Given the description of an element on the screen output the (x, y) to click on. 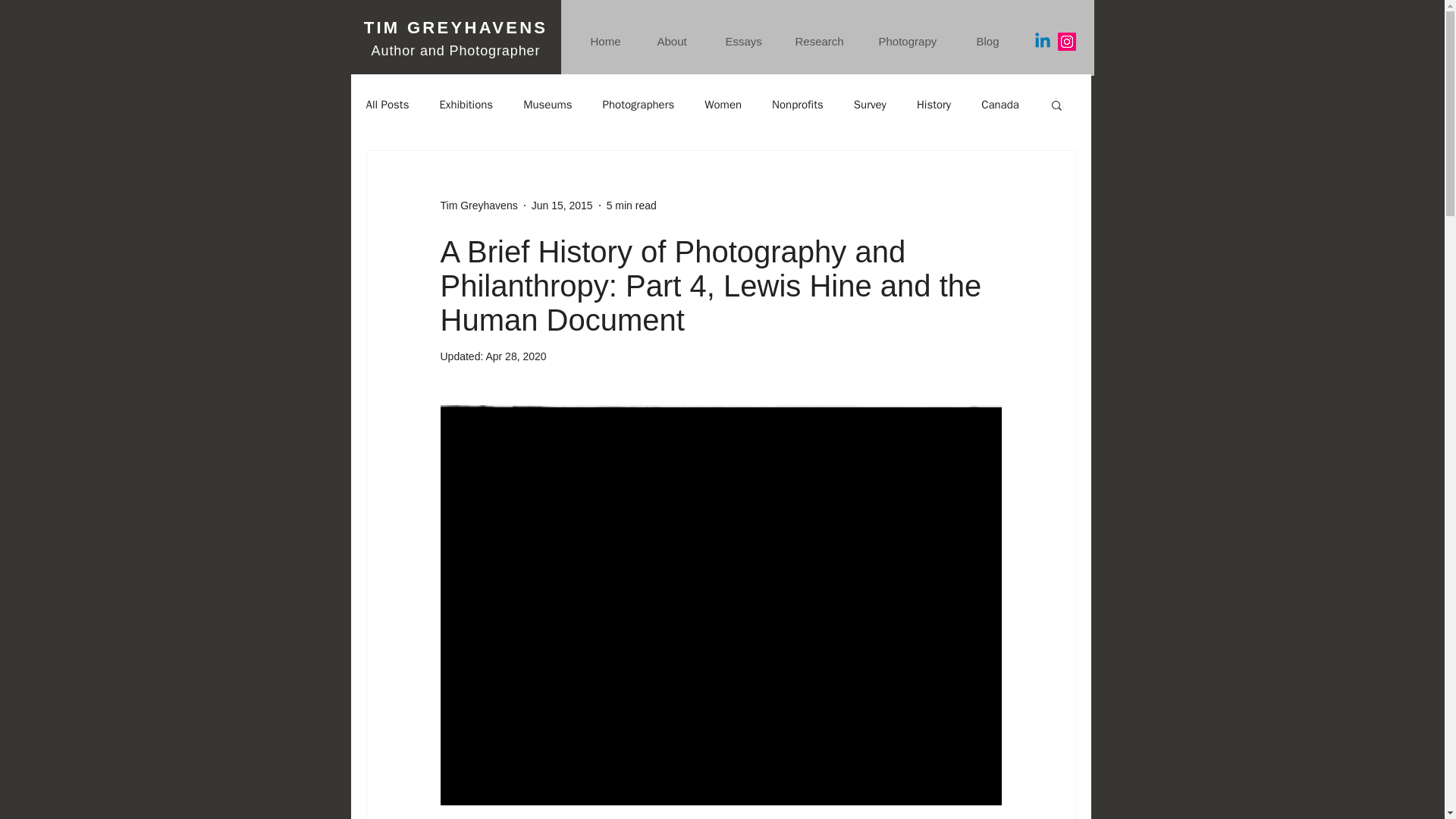
Jun 15, 2015 (561, 204)
About (680, 41)
Author and Photographer (455, 50)
Blog (993, 41)
Exhibitions (466, 104)
Nonprofits (797, 104)
Research (825, 41)
Tim Greyhavens (477, 204)
Photographers (638, 104)
Museums (547, 104)
